Given the description of an element on the screen output the (x, y) to click on. 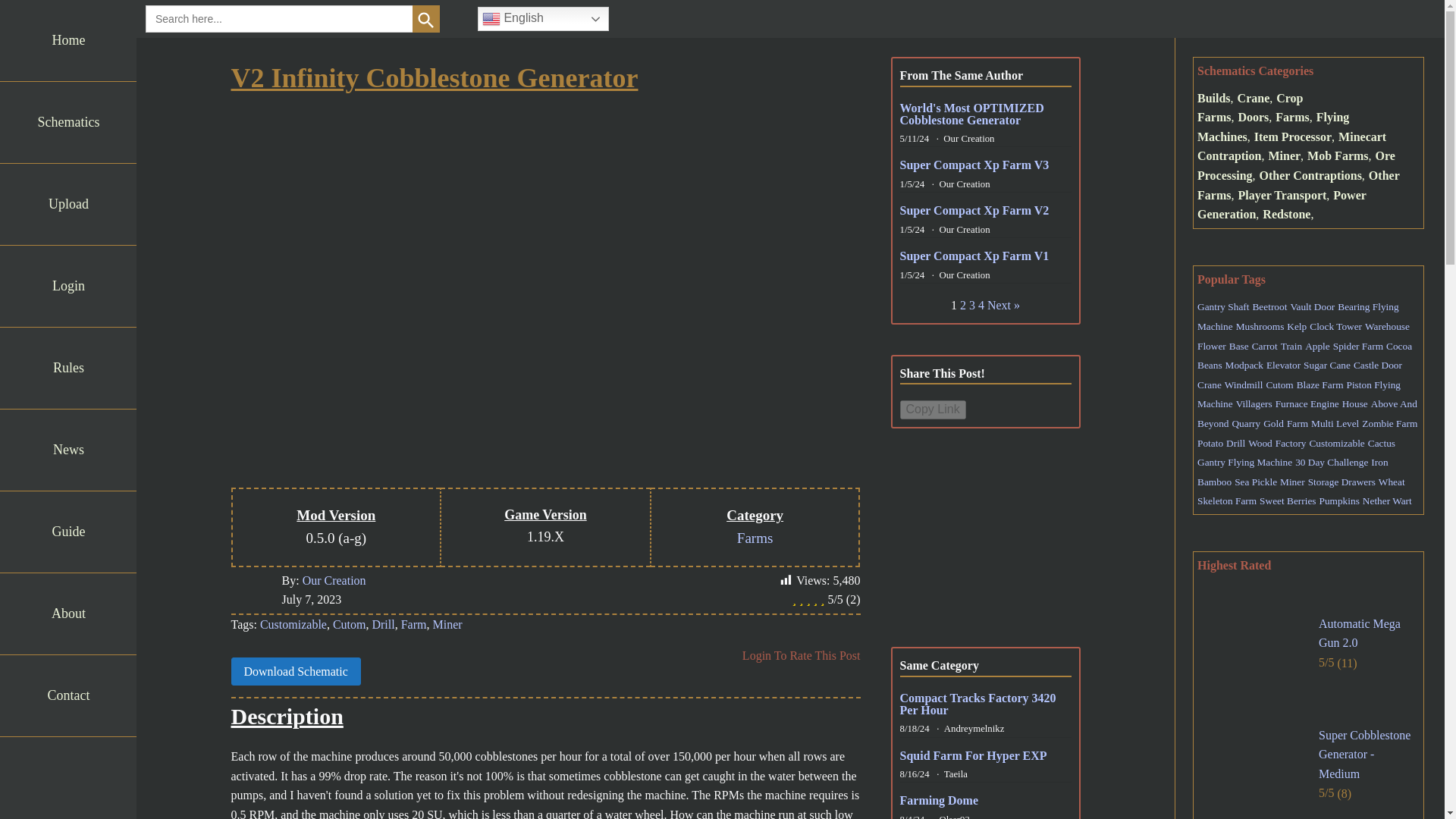
Download Schematic (294, 671)
Miner (446, 624)
Search Button (425, 18)
Our Creation (334, 580)
Farm (413, 624)
Drill (382, 624)
Cutom (349, 624)
Miner (446, 624)
Drill (382, 624)
English (542, 18)
